Given the description of an element on the screen output the (x, y) to click on. 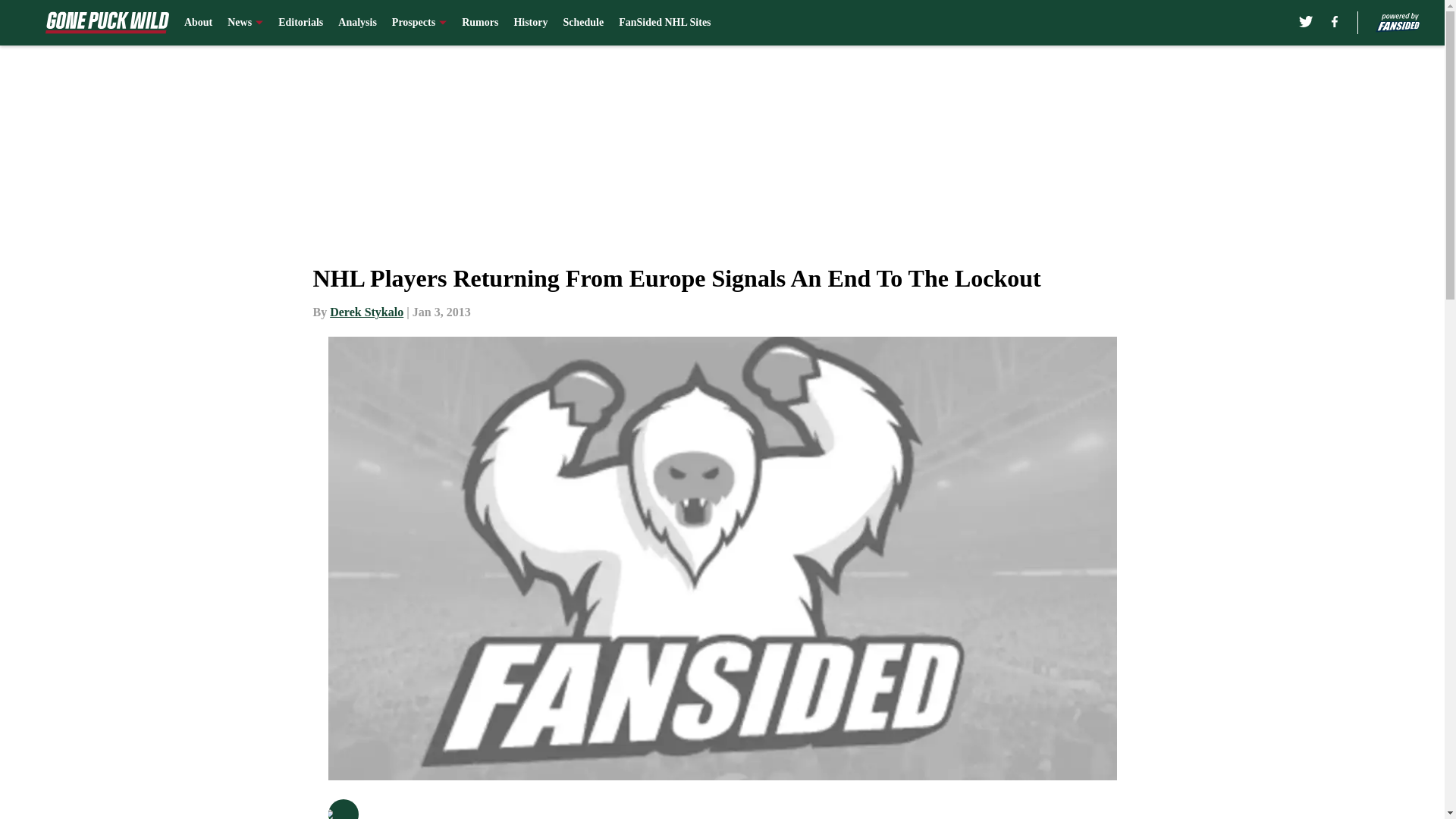
Rumors (479, 22)
History (530, 22)
Derek Stykalo (366, 311)
Analysis (357, 22)
FanSided NHL Sites (664, 22)
About (198, 22)
Editorials (300, 22)
Schedule (583, 22)
